Given the description of an element on the screen output the (x, y) to click on. 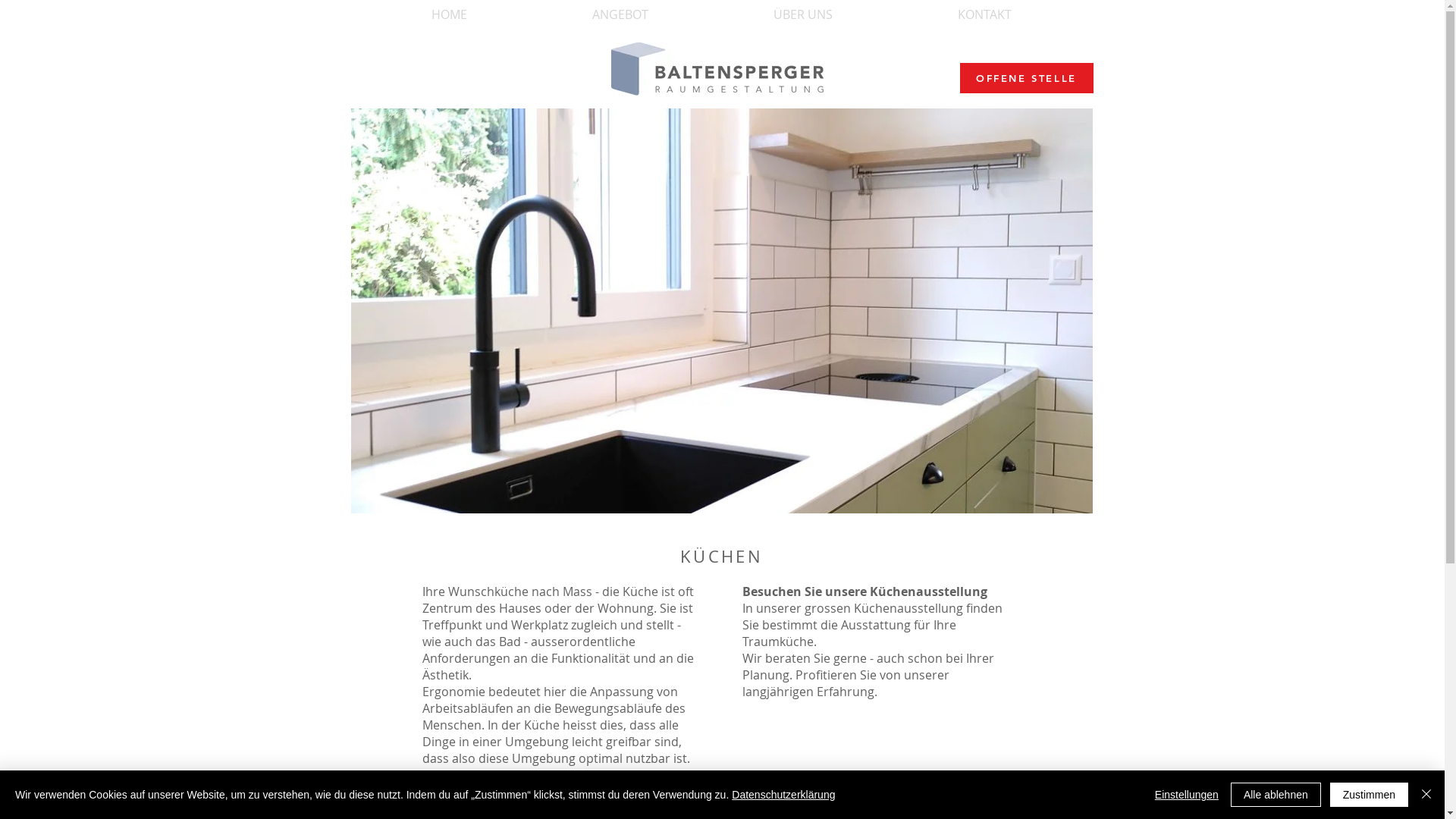
Alle ablehnen Element type: text (1275, 794)
HOME Element type: text (448, 14)
OFFENE STELLE Element type: text (1026, 77)
ANGEBOT Element type: text (619, 14)
Zustimmen Element type: text (1369, 794)
KONTAKT Element type: text (983, 14)
